Given the description of an element on the screen output the (x, y) to click on. 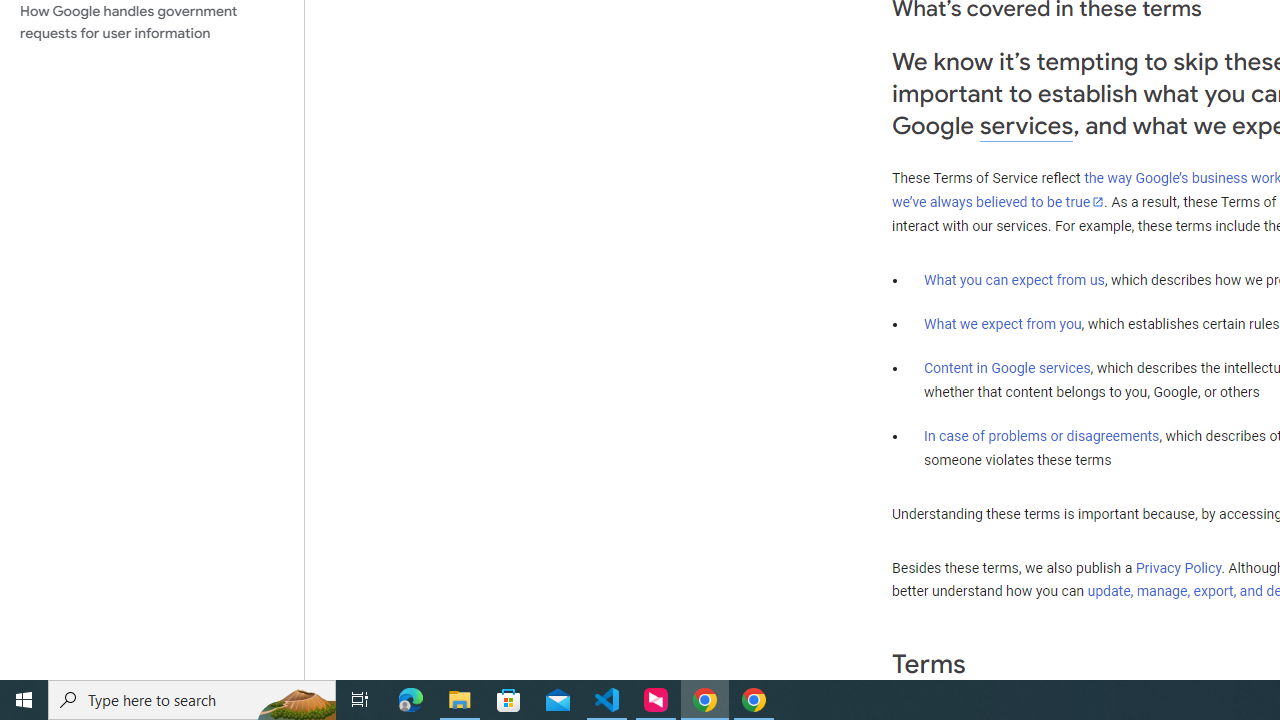
In case of problems or disagreements (1041, 435)
What we expect from you (1002, 323)
Privacy Policy (1178, 567)
services (1026, 125)
What you can expect from us (1014, 279)
Content in Google services (1007, 368)
